Given the description of an element on the screen output the (x, y) to click on. 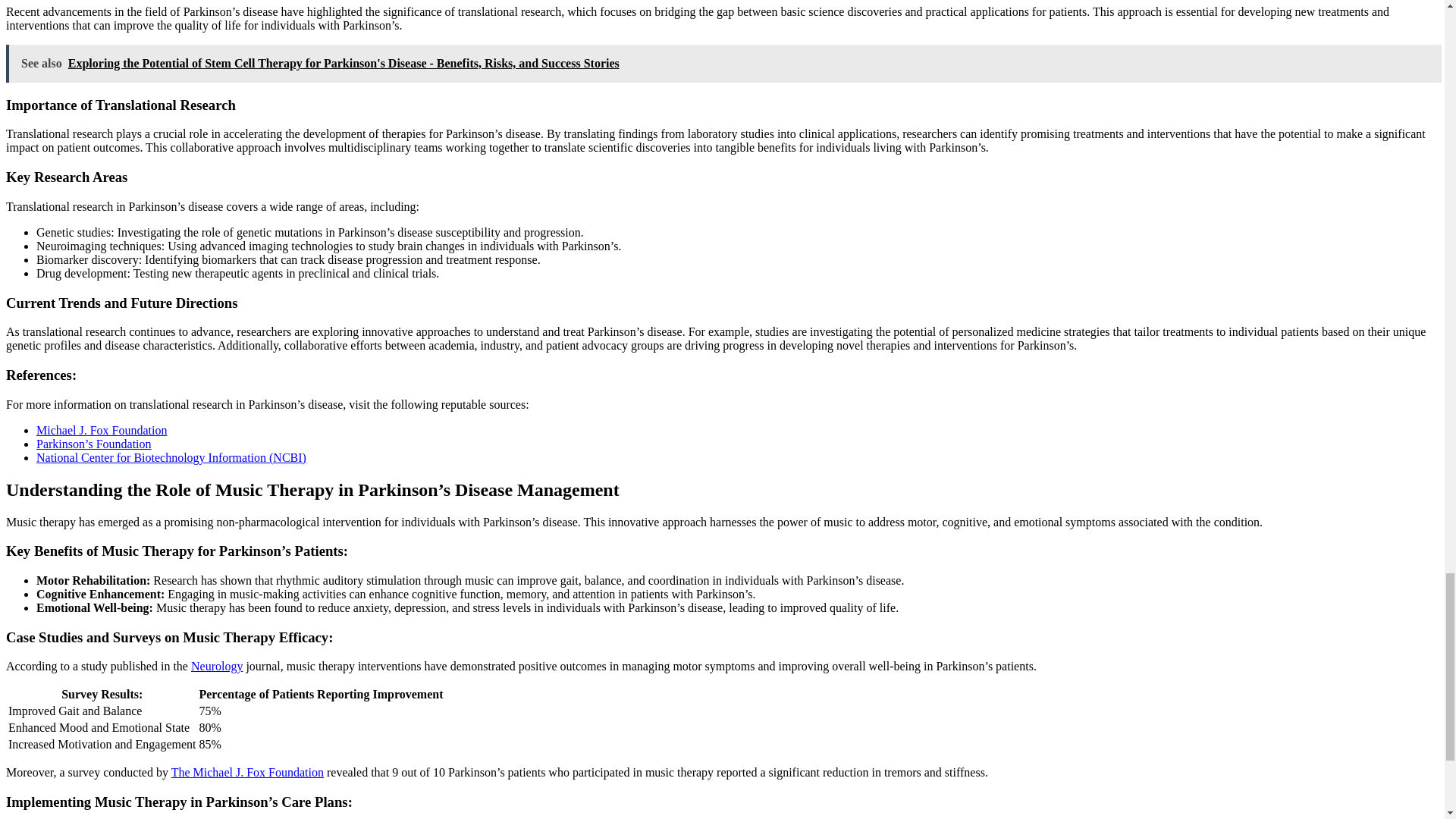
Neurology (216, 666)
Michael J. Fox Foundation (101, 430)
The Michael J. Fox Foundation (247, 771)
